Given the description of an element on the screen output the (x, y) to click on. 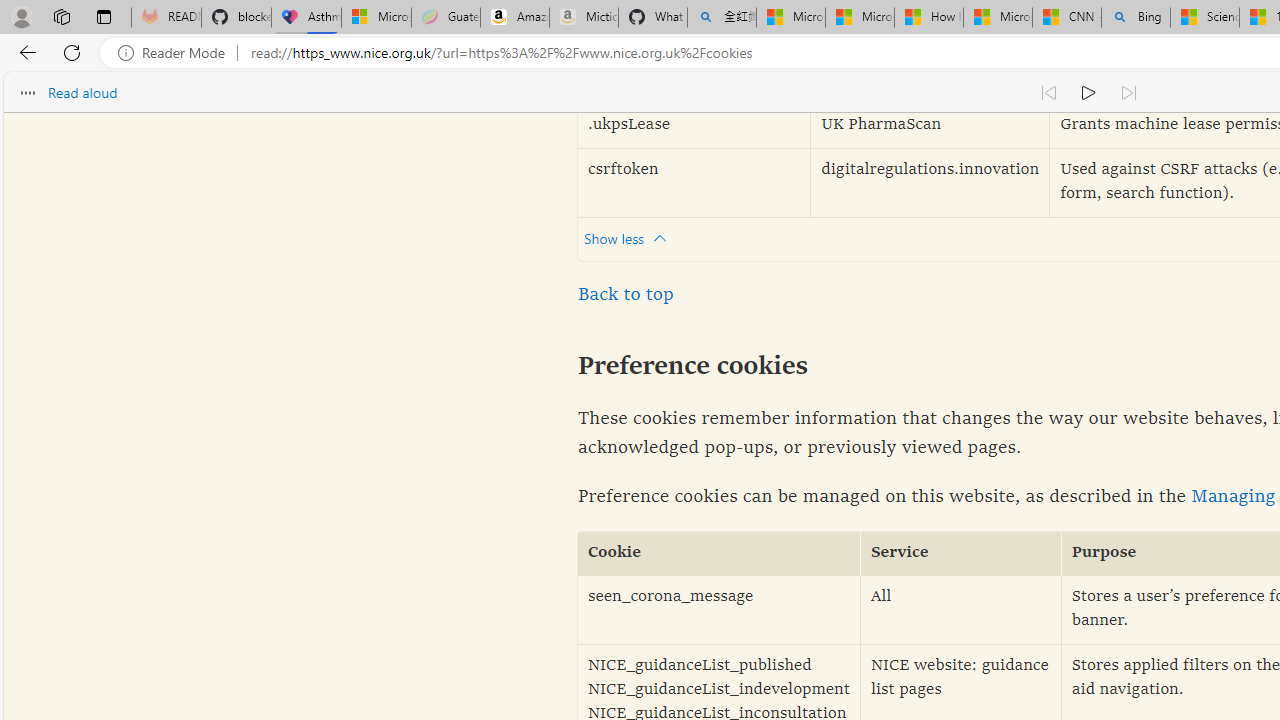
Show less (630, 238)
Back to top (625, 294)
Asthma Inhalers: Names and Types (305, 17)
Cookie (719, 554)
Bing (1135, 17)
seen_corona_message (719, 610)
.ukpsLease (694, 125)
digitalregulations.innovation (929, 182)
csrftoken (694, 182)
Science - MSN (1205, 17)
